Given the description of an element on the screen output the (x, y) to click on. 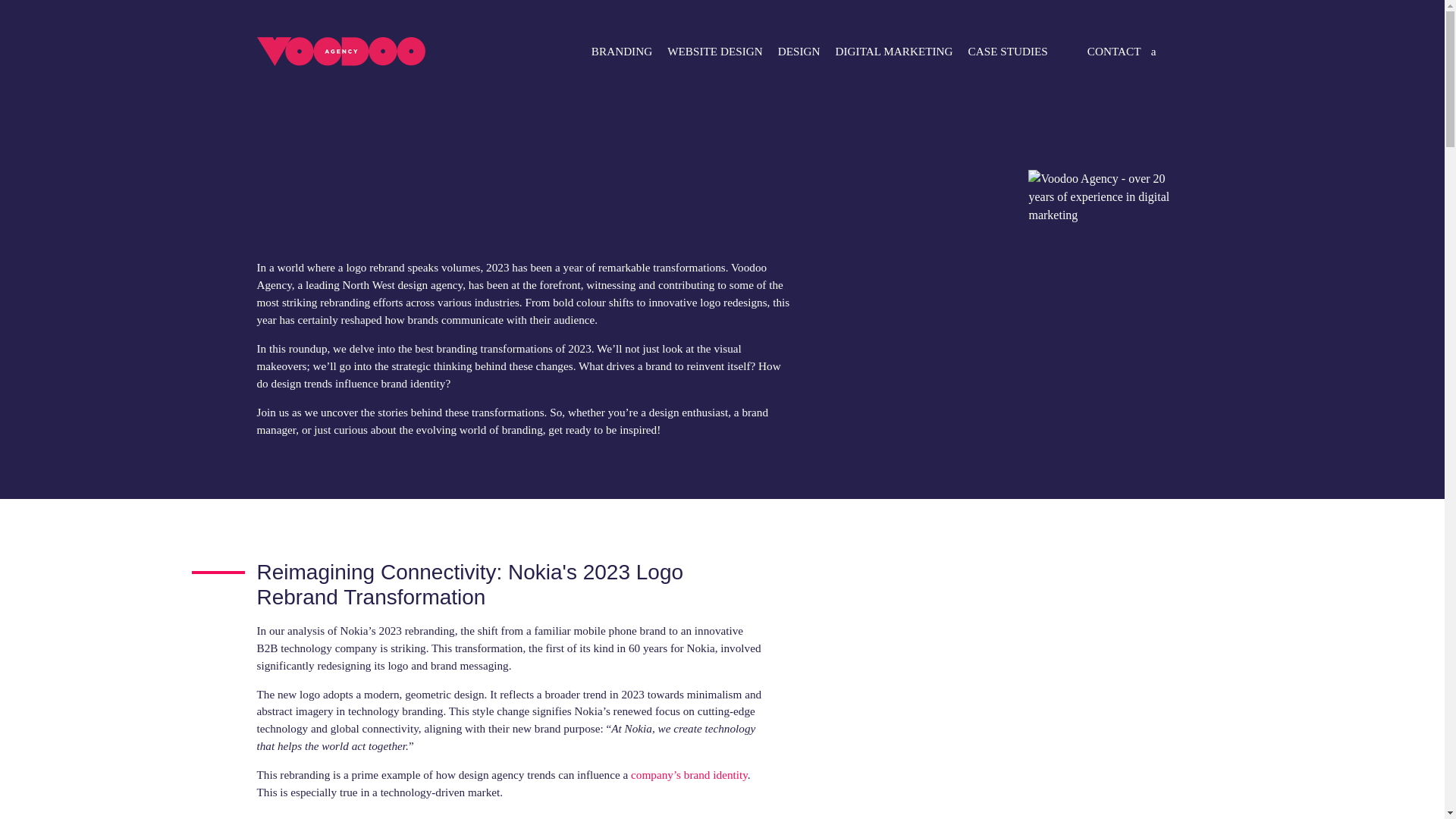
WEBSITE DESIGN (714, 51)
DIGITAL MARKETING (894, 51)
BRANDING (621, 51)
DESIGN (799, 51)
CONTACT (1114, 51)
CASE STUDIES (1007, 51)
